Given the description of an element on the screen output the (x, y) to click on. 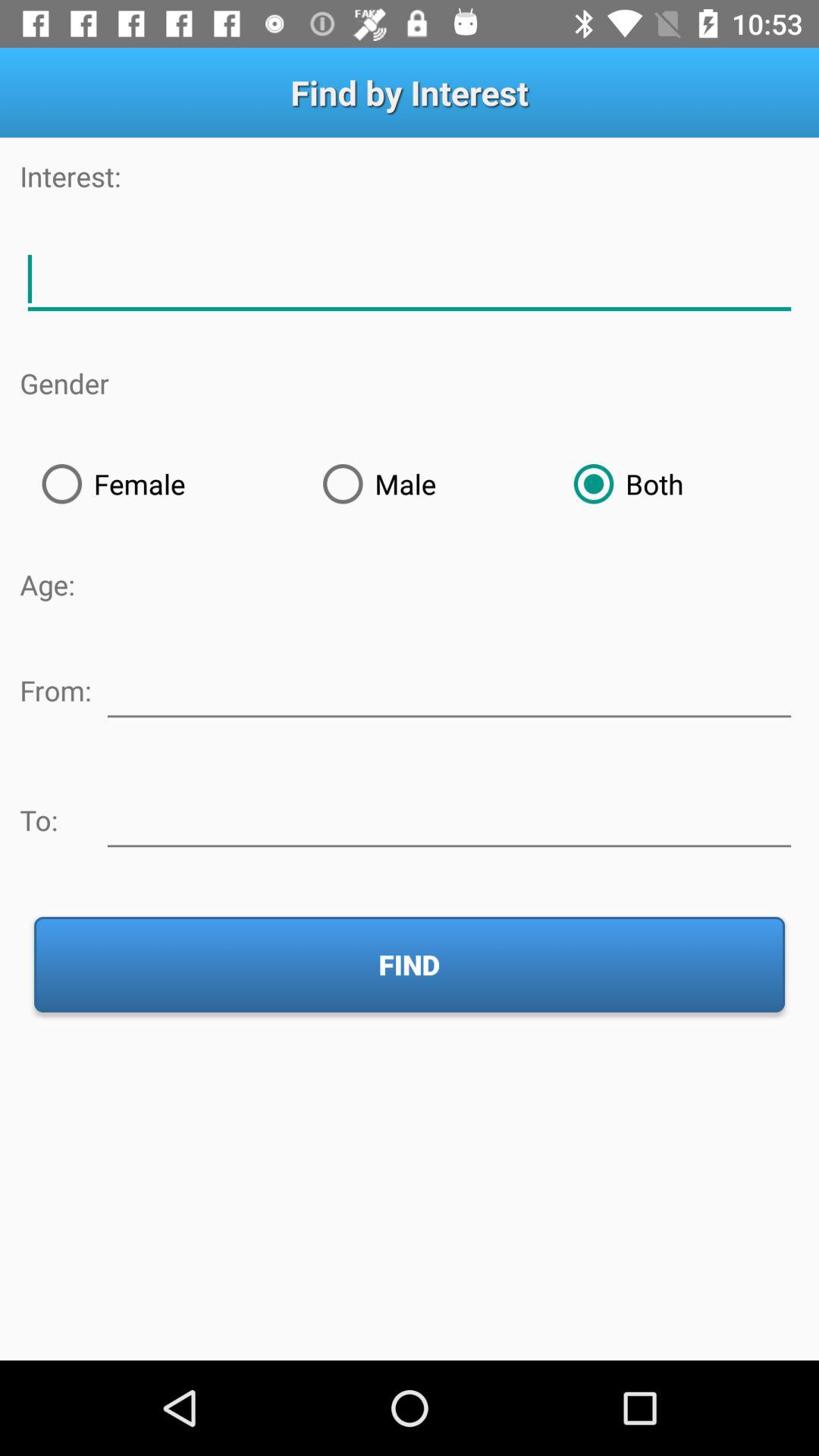
click radio button to the right of the male (674, 483)
